Given the description of an element on the screen output the (x, y) to click on. 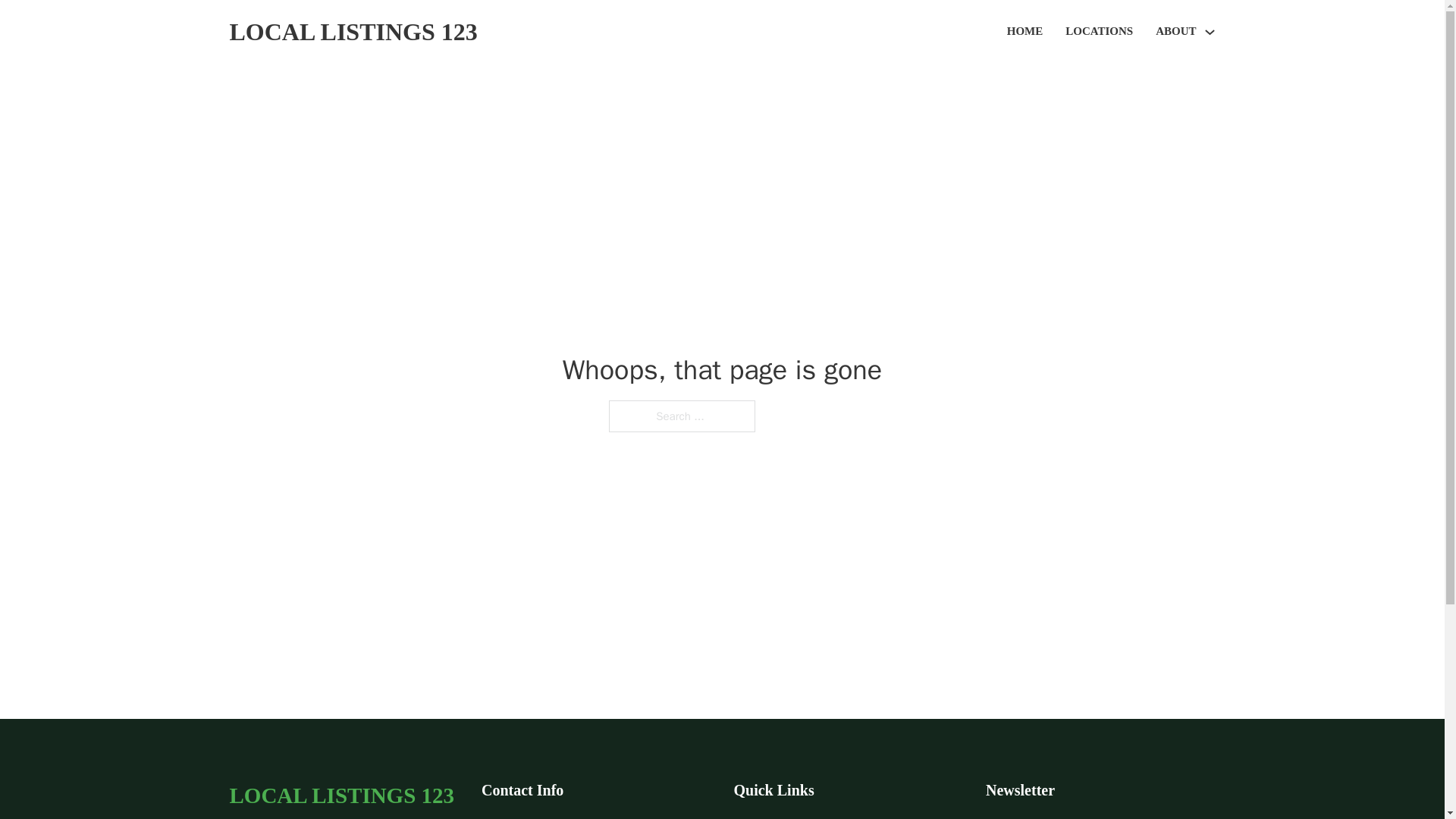
LOCAL LISTINGS 123 (352, 31)
HOME (1025, 31)
LOCAL LISTINGS 123 (341, 795)
LOCATIONS (1098, 31)
